Given the description of an element on the screen output the (x, y) to click on. 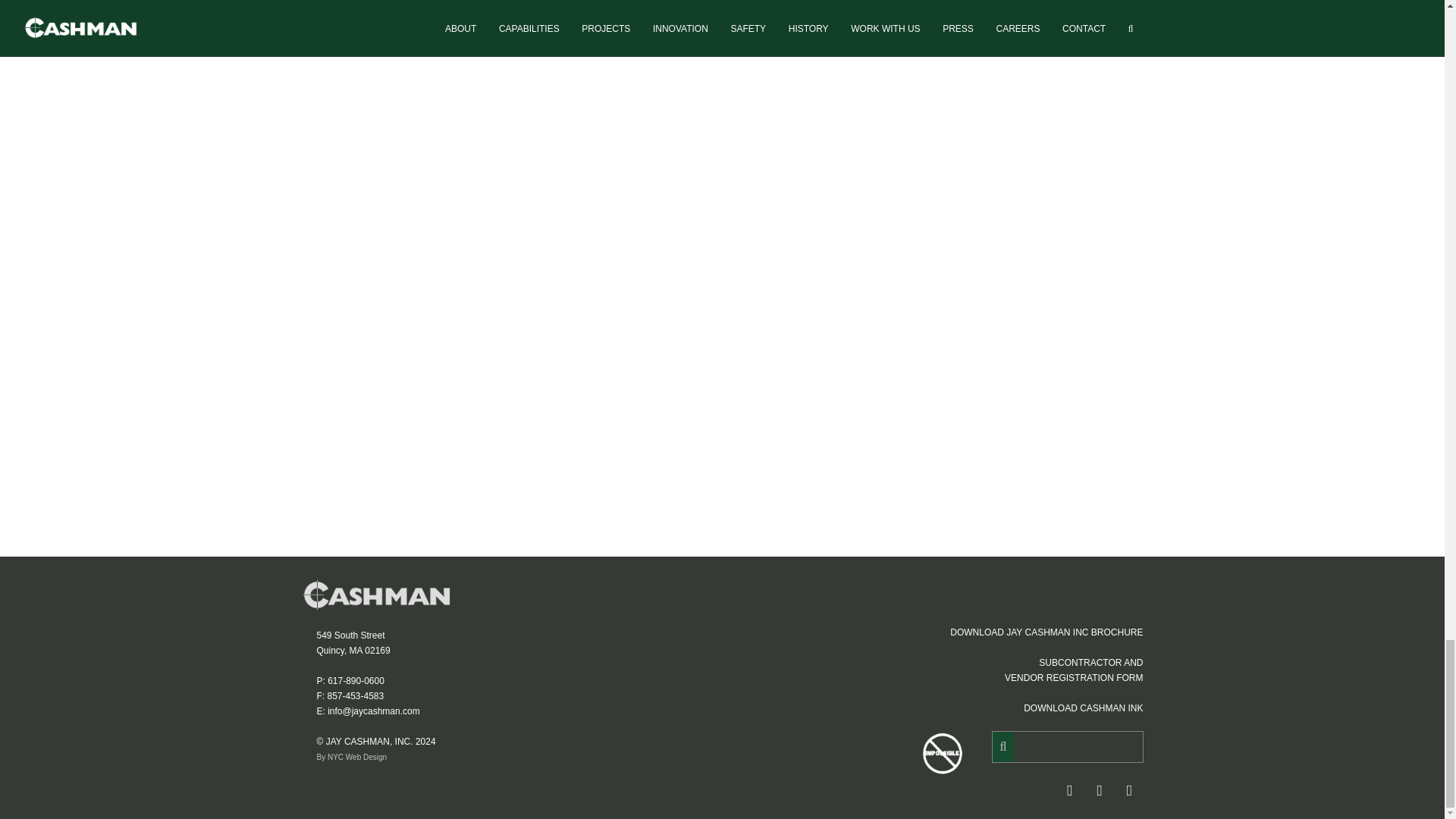
DOWNLOAD JAY CASHMAN INC BROCHURE (1046, 632)
DOWNLOAD CASHMAN INK (1082, 707)
By NYC Web Design (351, 756)
